Given the description of an element on the screen output the (x, y) to click on. 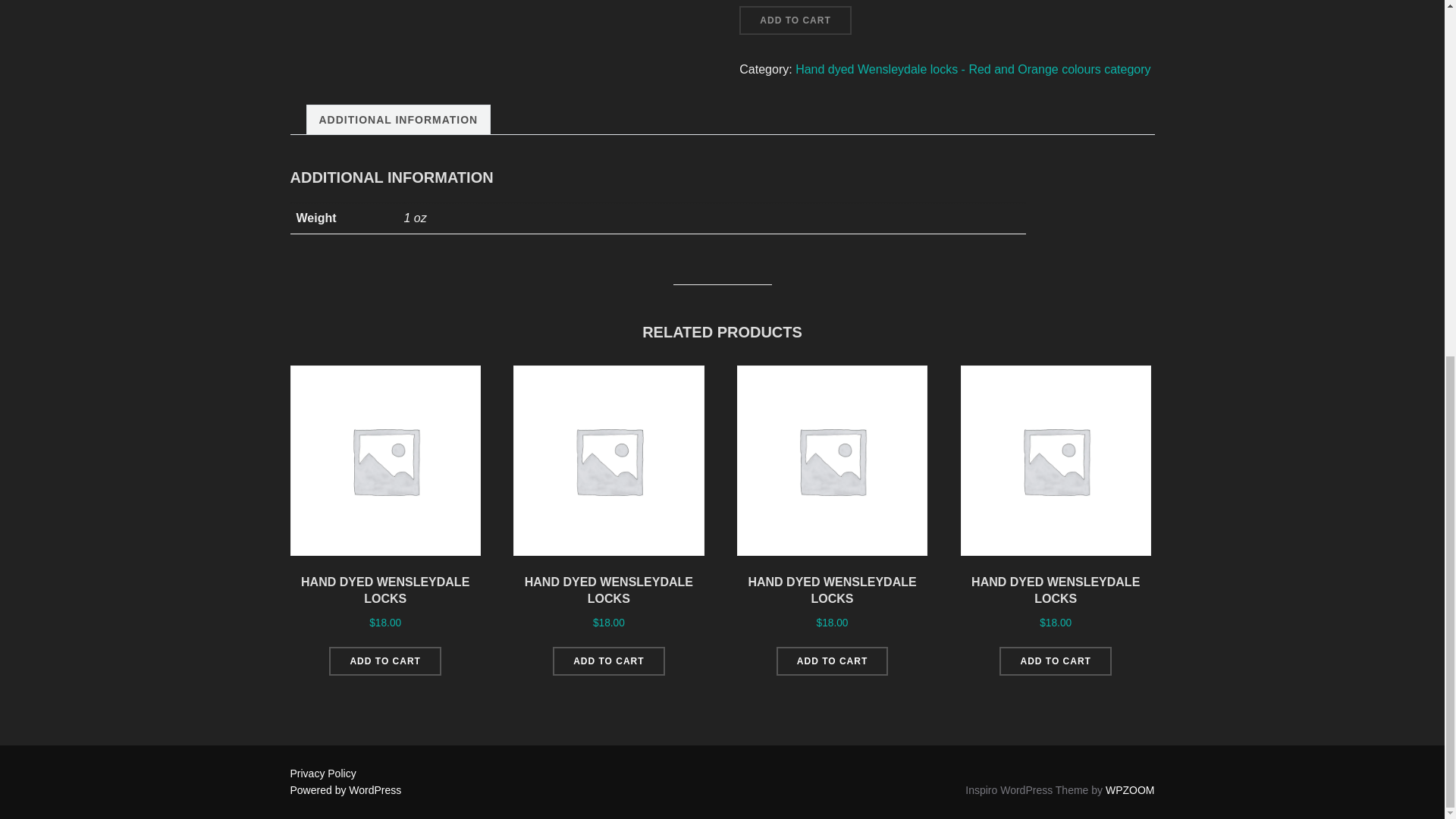
Powered by WordPress (345, 789)
Privacy Policy (322, 773)
ADD TO CART (794, 20)
ADD TO CART (832, 661)
ADD TO CART (1054, 661)
WPZOOM (1129, 789)
ADD TO CART (385, 661)
ADDITIONAL INFORMATION (397, 120)
ADD TO CART (608, 661)
